Given the description of an element on the screen output the (x, y) to click on. 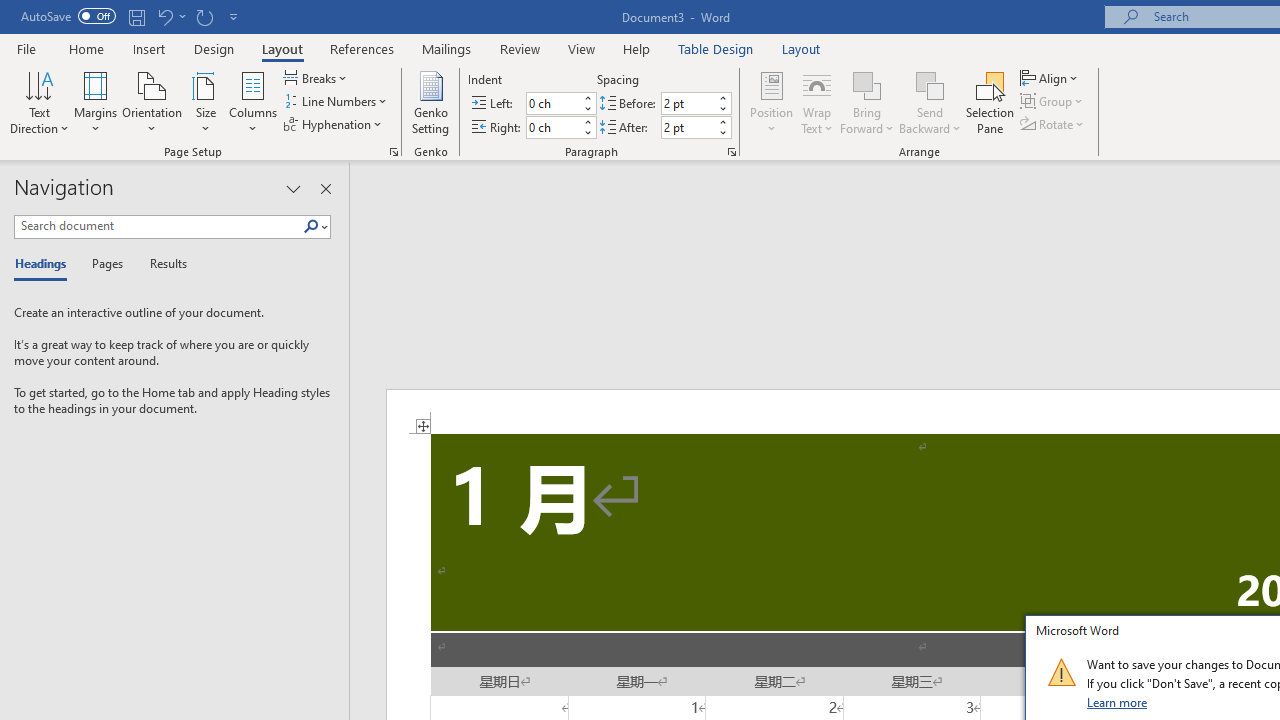
Group (1053, 101)
Genko Setting... (430, 102)
Send Backward (930, 84)
Size (205, 102)
Selection Pane... (990, 102)
Margins (95, 102)
Learn more (1118, 702)
Page Setup... (393, 151)
Text Direction (39, 102)
Bring Forward (867, 102)
